Given the description of an element on the screen output the (x, y) to click on. 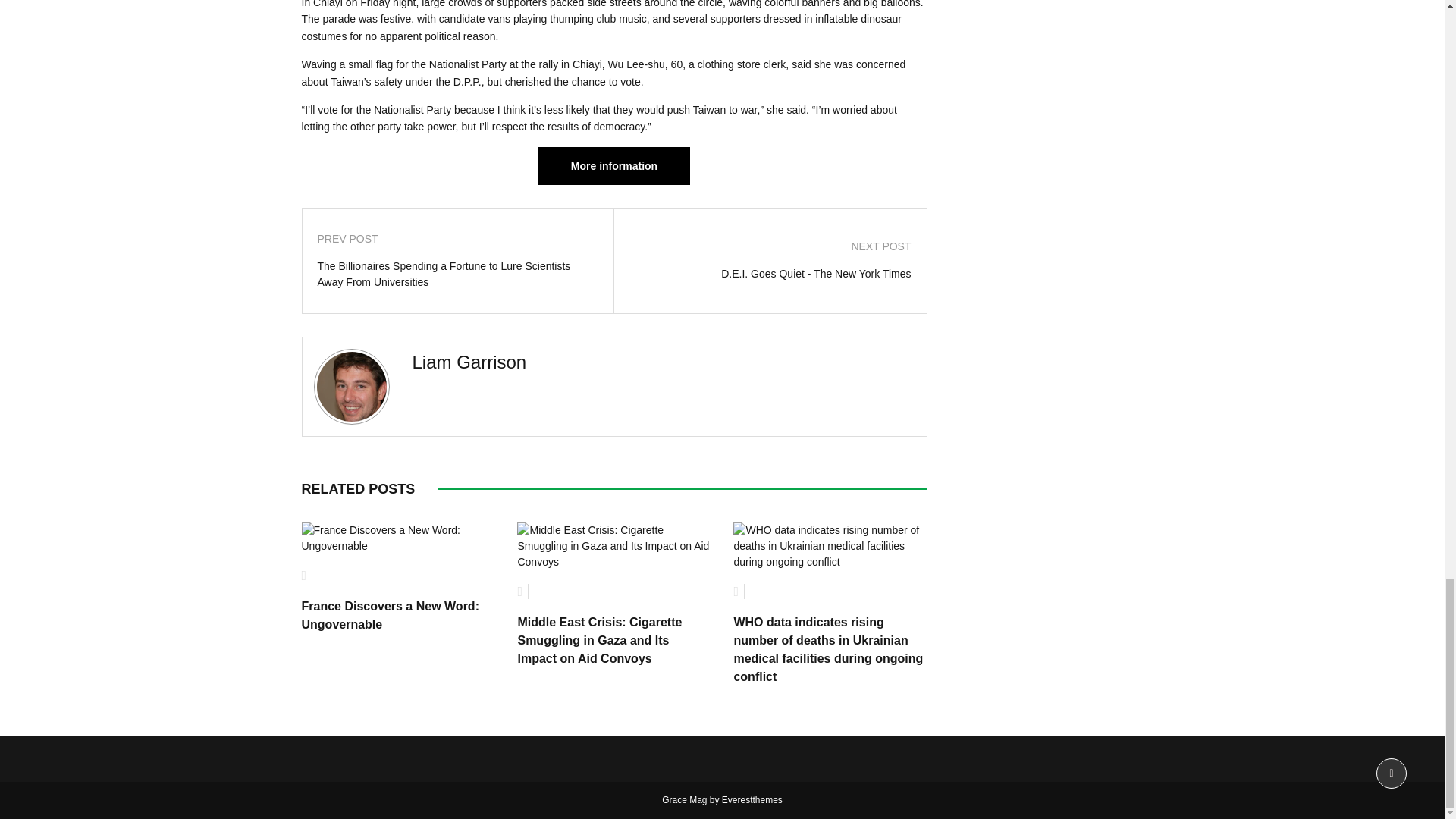
Everestthemes (752, 799)
France Discovers a New Word: Ungovernable (390, 614)
More information (614, 166)
D.E.I. Goes Quiet - The New York Times (769, 273)
